Given the description of an element on the screen output the (x, y) to click on. 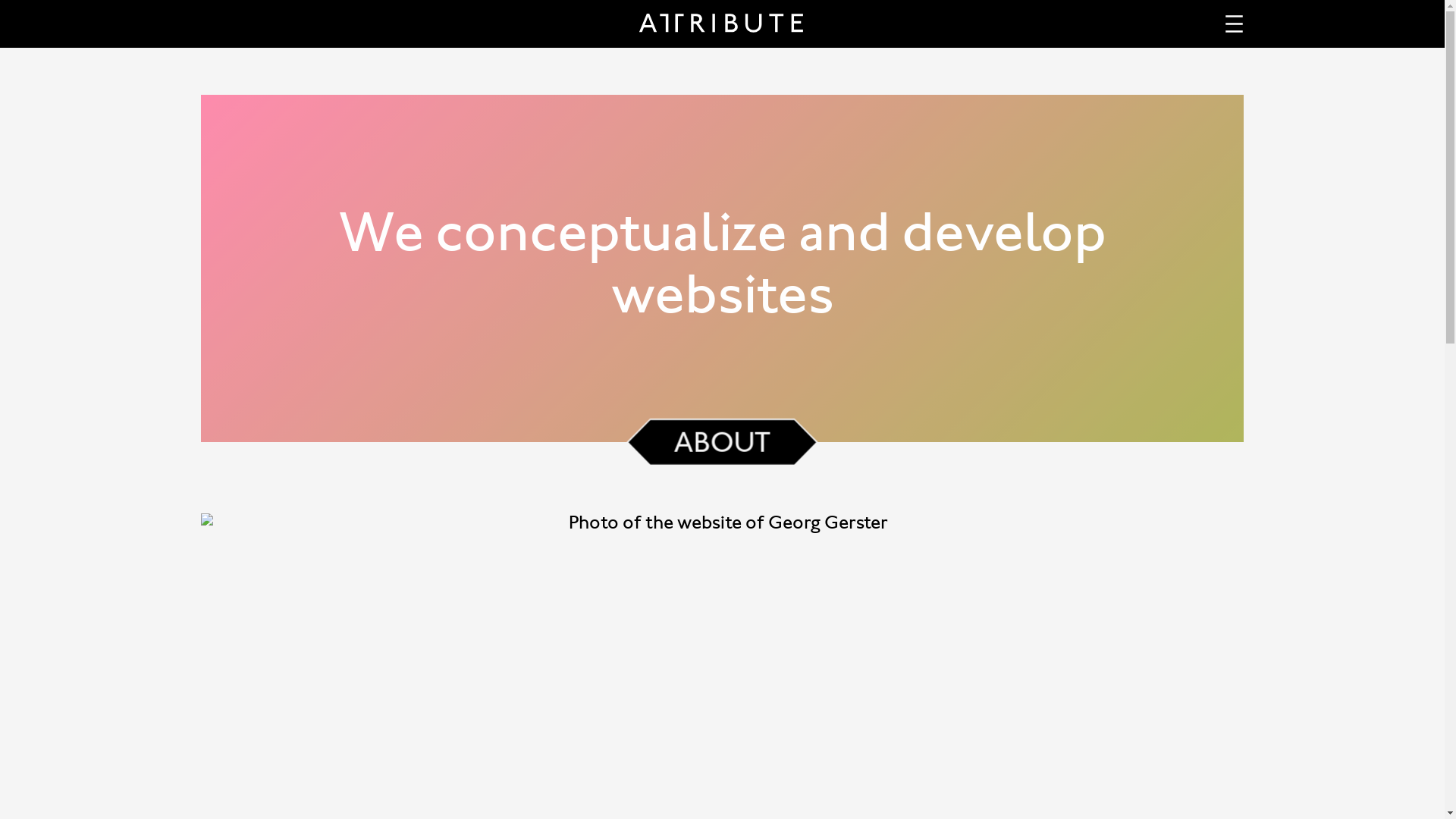
We conceptualize and develop websites
ABOUT Element type: text (721, 268)
